Given the description of an element on the screen output the (x, y) to click on. 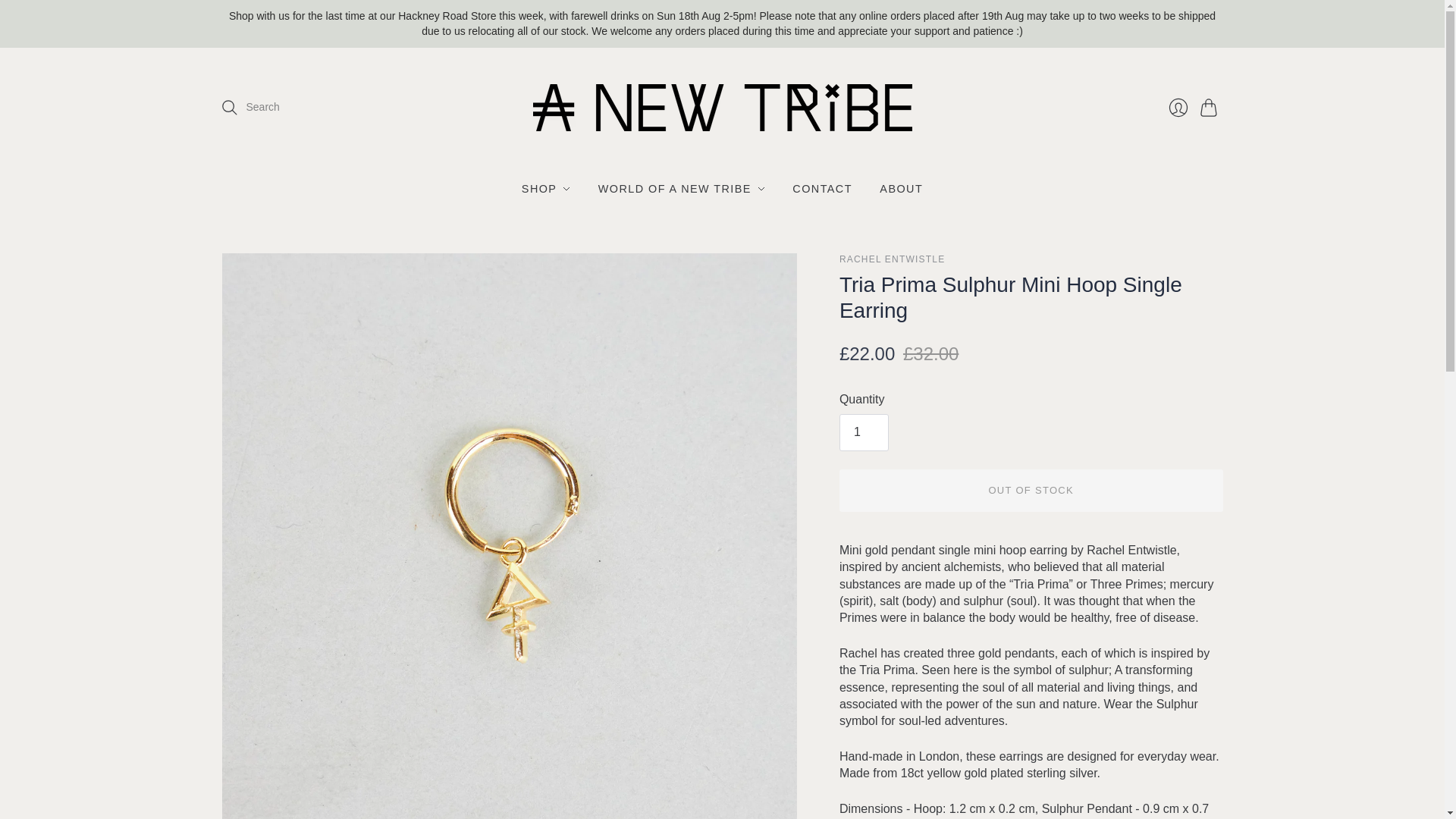
1 (864, 432)
Rachel Entwistle (892, 258)
Login (1177, 107)
SHOP (545, 188)
Cart (1210, 107)
WORLD OF A NEW TRIBE (681, 188)
ABOUT (901, 188)
CONTACT (821, 188)
